Given the description of an element on the screen output the (x, y) to click on. 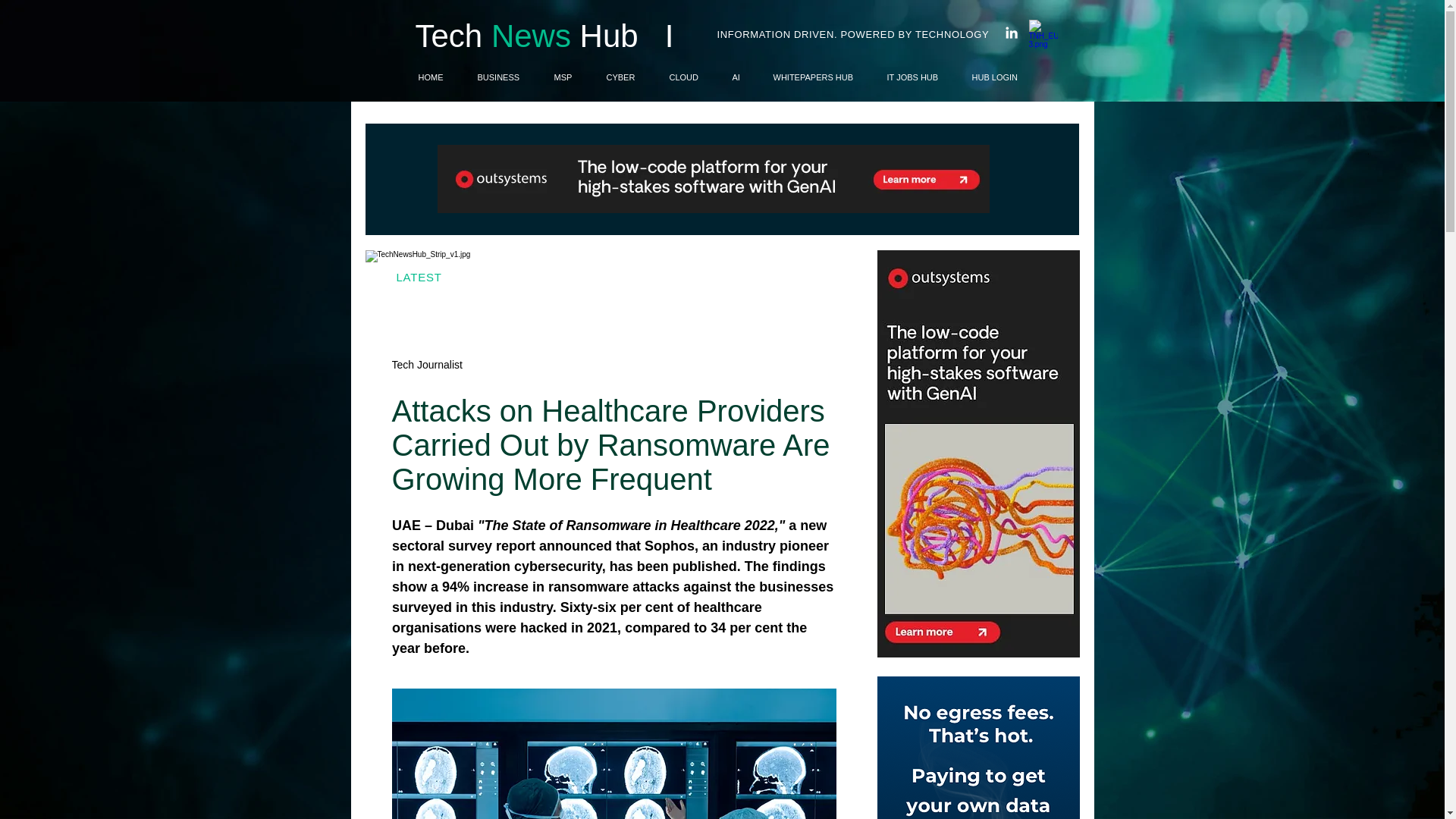
Tech News Hub   I (544, 36)
AI (740, 77)
MSP (569, 77)
WHITEPAPERS HUB (818, 77)
CYBER (626, 77)
HUB LOGIN (999, 77)
CLOUD (689, 77)
BUSINESS (503, 77)
HOME (435, 77)
Tech Journalist (426, 364)
